Given the description of an element on the screen output the (x, y) to click on. 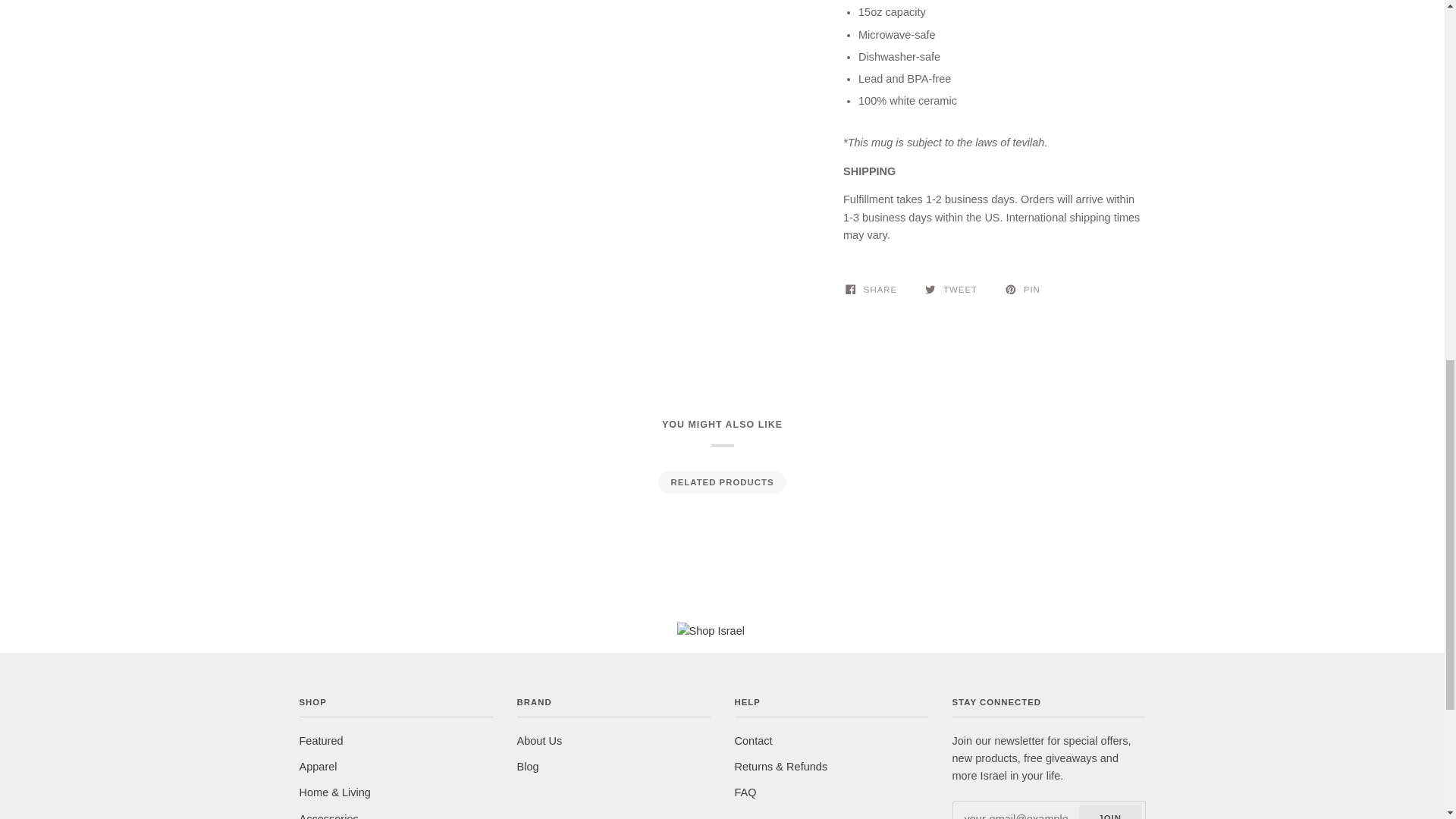
RELATED PRODUCTS (721, 481)
